Given the description of an element on the screen output the (x, y) to click on. 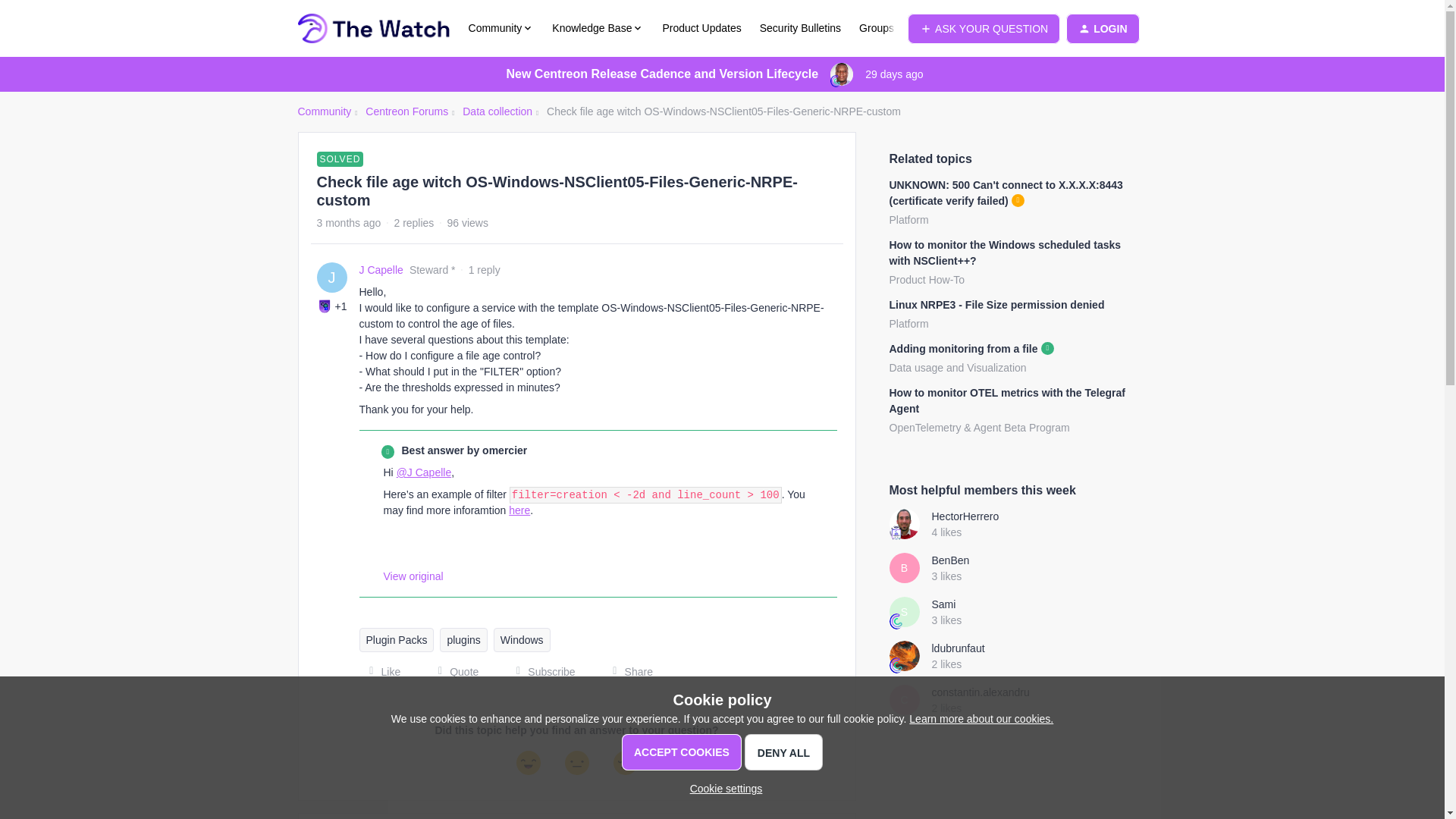
ASK YOUR QUESTION (983, 28)
LOGIN (1101, 28)
Groups (876, 28)
Community (323, 111)
Events (928, 28)
Product Updates (701, 28)
Community (501, 28)
Security Bulletins (800, 28)
Knowledge Base (597, 28)
